Given the description of an element on the screen output the (x, y) to click on. 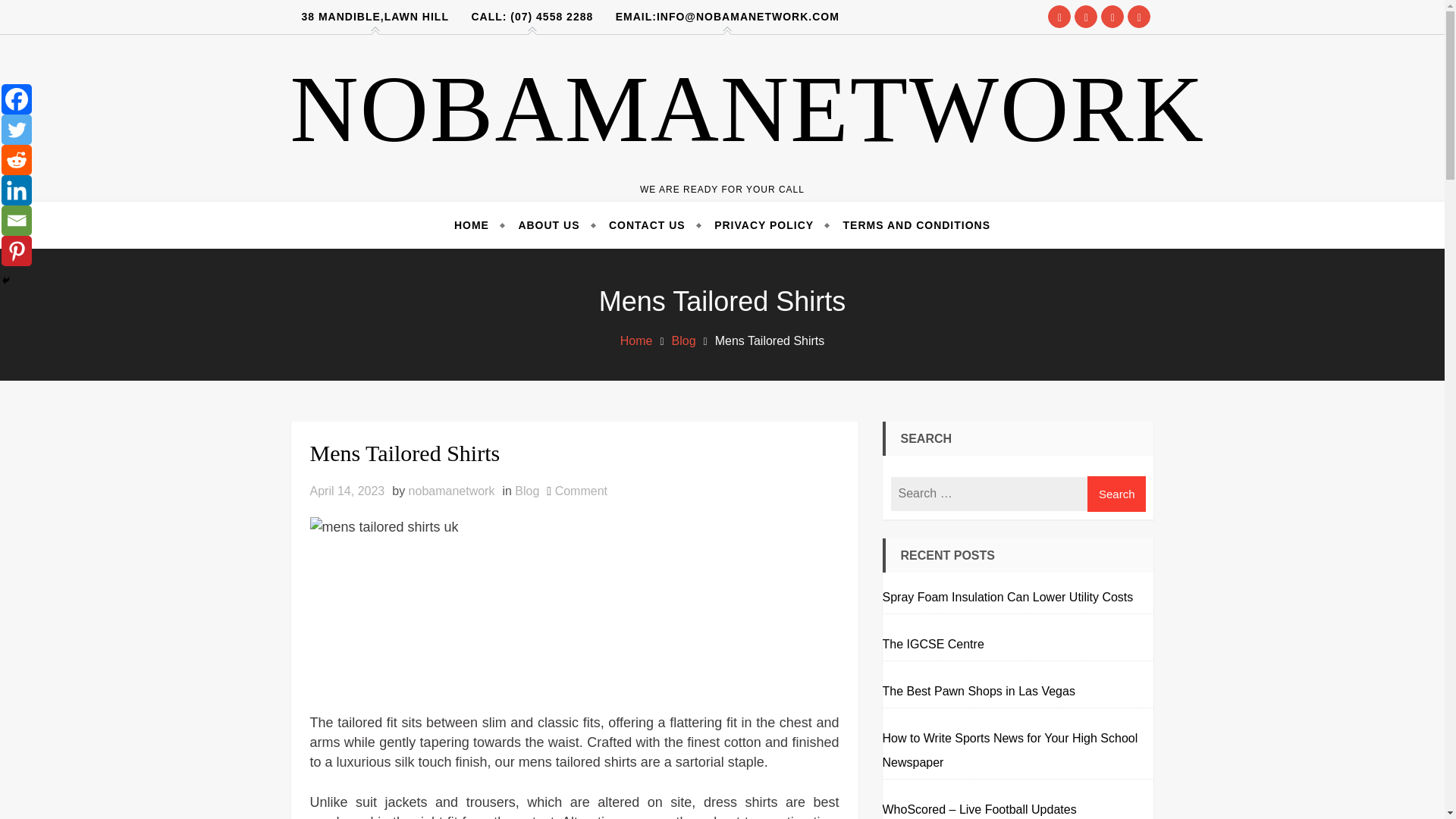
Facebook (580, 490)
Pinterest (16, 99)
Linkedin (16, 250)
HOME (16, 190)
Blog (478, 225)
Hide (526, 490)
Home (5, 280)
TERMS AND CONDITIONS (636, 340)
Twitter (909, 225)
